Given the description of an element on the screen output the (x, y) to click on. 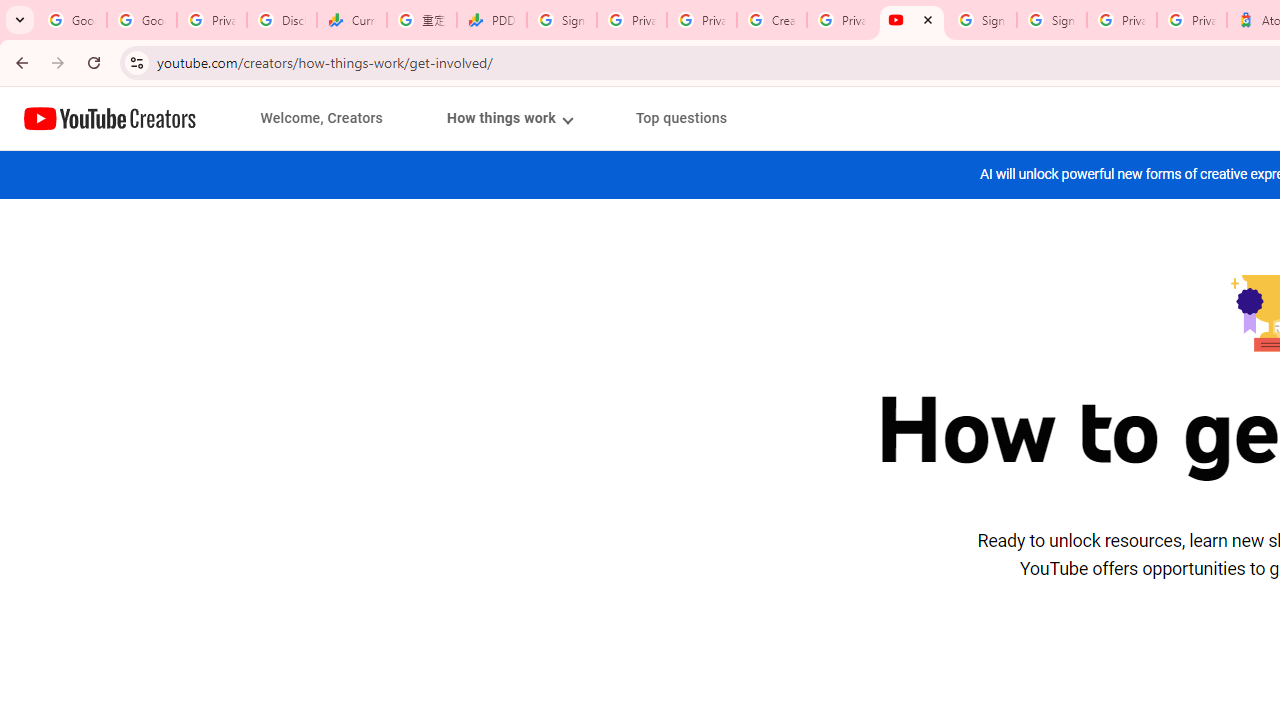
Create your Google Account (772, 20)
YouTube Creators (110, 118)
Privacy Checkup (701, 20)
Welcome, Creators (321, 118)
Top questions (681, 118)
Content Creator Programs & Opportunities - YouTube Creators (911, 20)
Google Workspace Admin Community (72, 20)
